Given the description of an element on the screen output the (x, y) to click on. 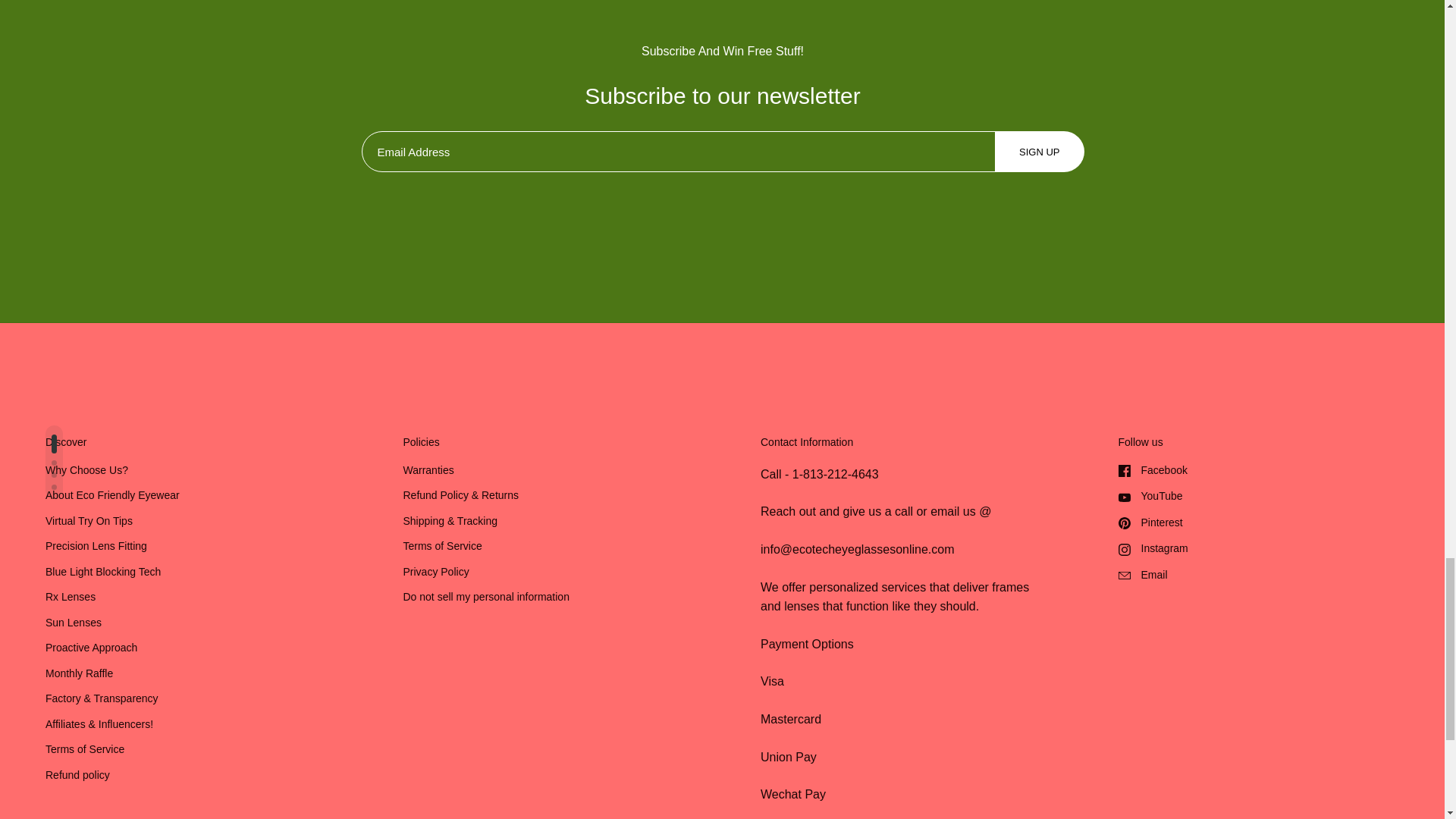
Blue Light Blocking Tech (102, 572)
SIGN UP (1039, 152)
Precision Lens Fitting (96, 546)
Rx Lenses (70, 597)
Virtual Try On Tips (88, 522)
SIGN UP (1038, 151)
About Eco Friendly Eyewear (112, 495)
Why Choose Us? (86, 471)
